Given the description of an element on the screen output the (x, y) to click on. 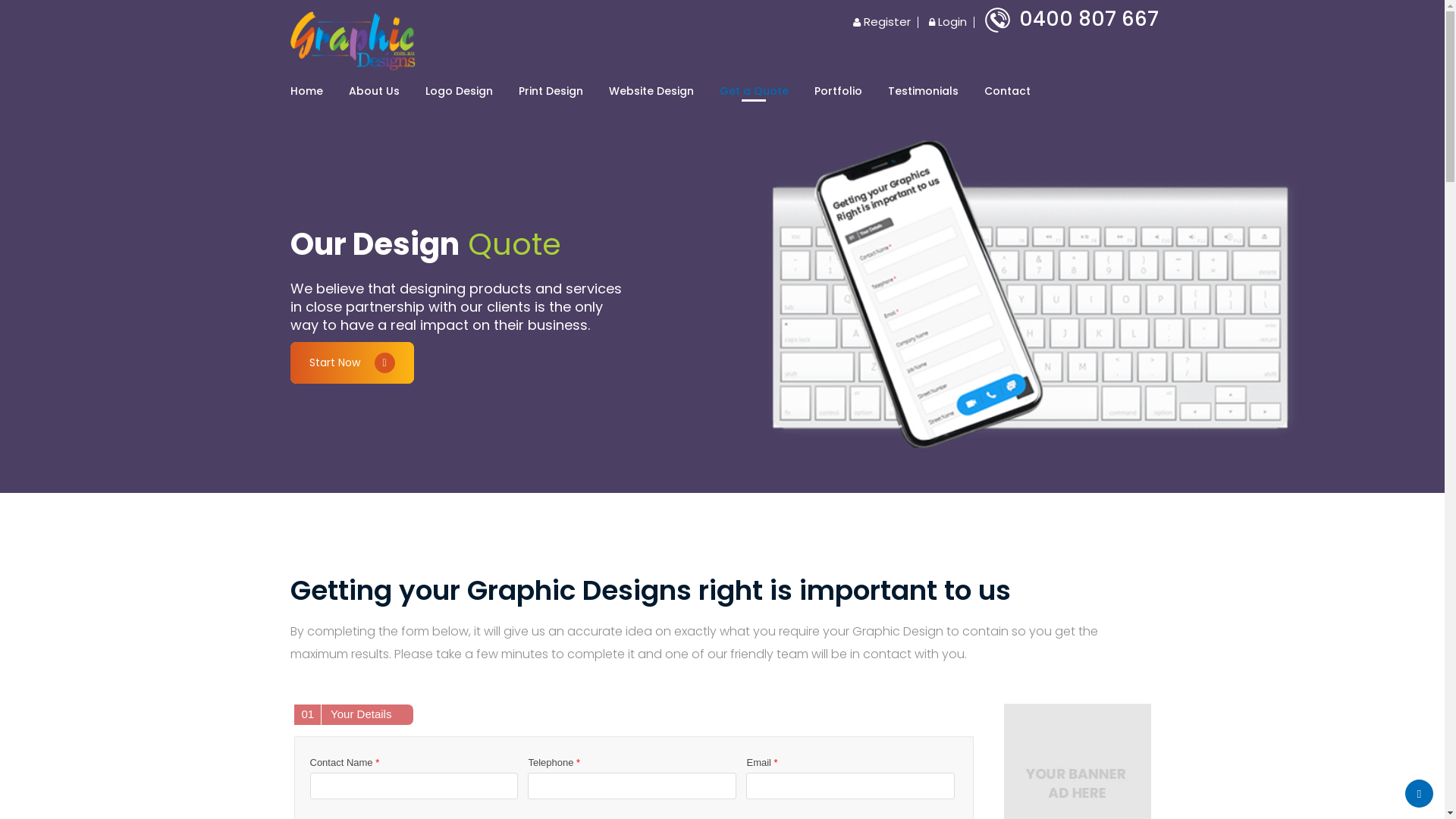
Login Element type: text (947, 21)
Graphic designs Element type: hover (351, 39)
Home Element type: text (305, 90)
Testimonials Element type: text (922, 90)
Website Design Element type: text (650, 90)
Start Now Element type: text (351, 361)
Print Design Element type: text (550, 90)
About Us Element type: text (373, 90)
Portfolio Element type: text (838, 90)
Register Element type: text (881, 21)
Logo Design Element type: text (458, 90)
Contact Element type: text (1007, 90)
Get a Quote Element type: text (752, 90)
0400 807 667 Element type: text (1070, 18)
